Given the description of an element on the screen output the (x, y) to click on. 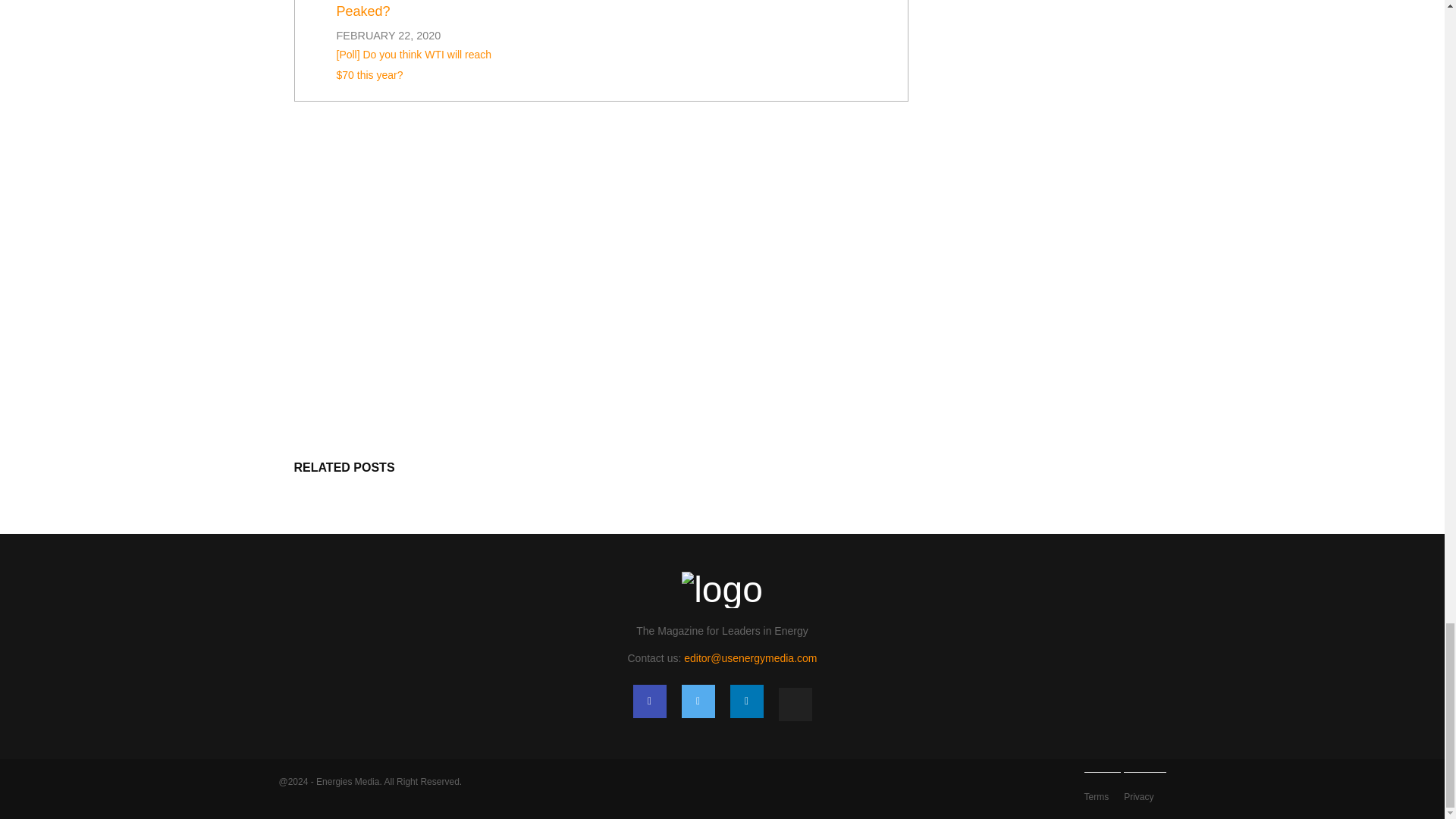
Youtube (793, 704)
Twitter (697, 701)
Linkedin (745, 701)
Facebook (648, 701)
